Given the description of an element on the screen output the (x, y) to click on. 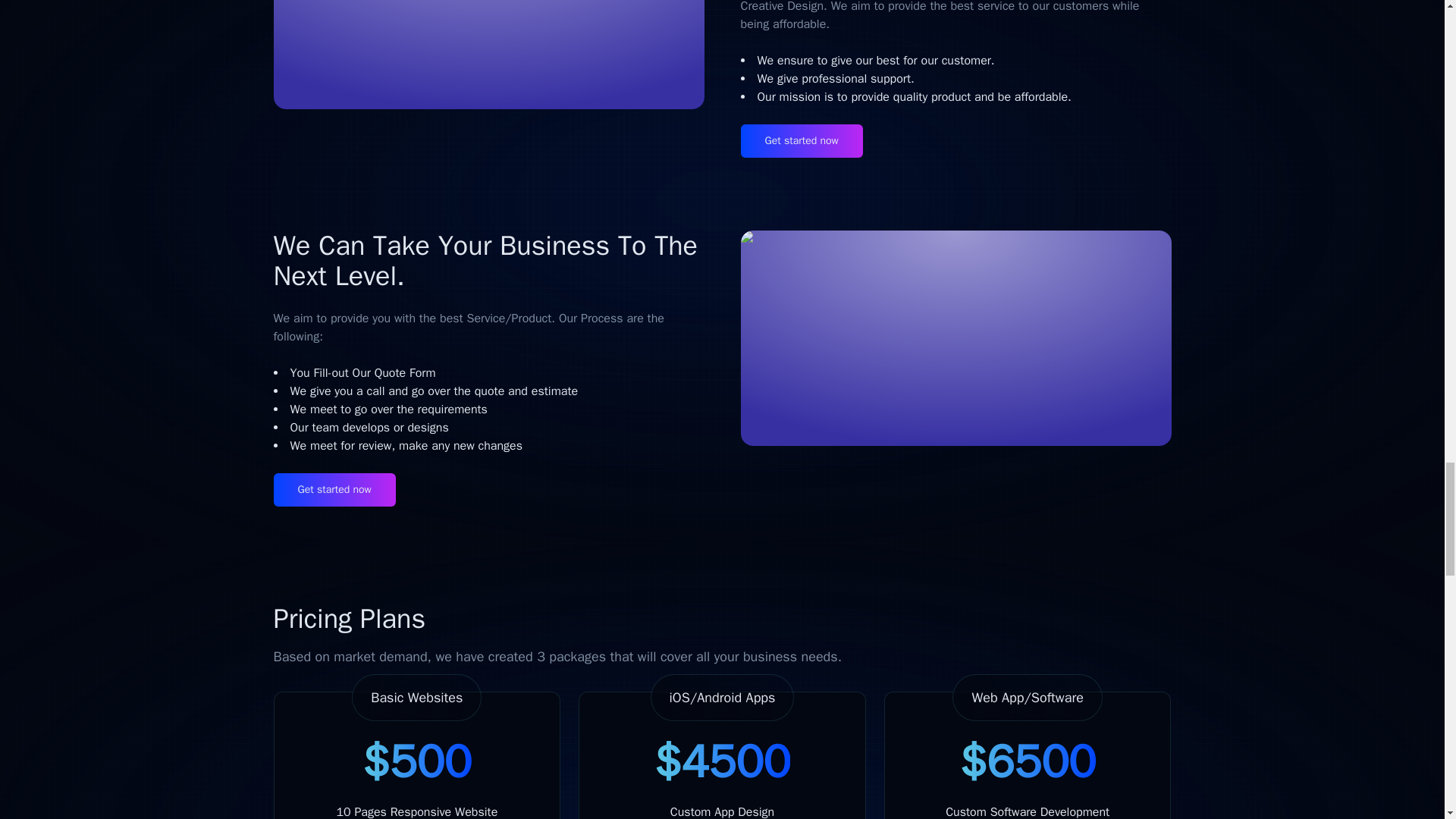
Get started now (333, 489)
Get started now (800, 141)
